Given the description of an element on the screen output the (x, y) to click on. 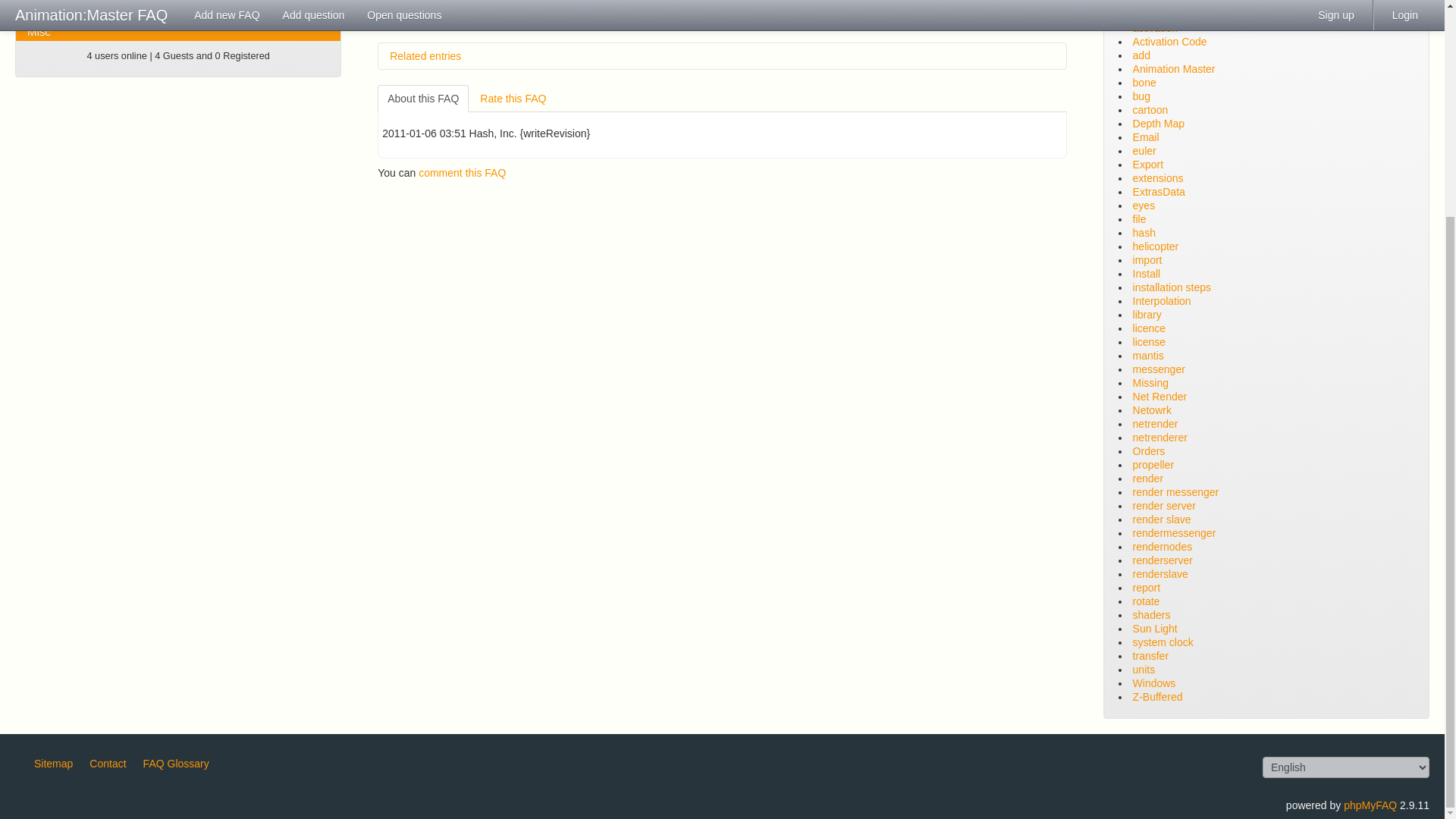
Rate this FAQ (513, 98)
Related entries (721, 55)
mantis (445, 20)
report (481, 20)
Audio (178, 13)
bug (414, 20)
Uncategorized Questions In Animation Master (178, 31)
Questions About Importing Items into Animation:Master (178, 2)
Misc (178, 31)
Questions About Audio in Animation Master (178, 13)
